Given the description of an element on the screen output the (x, y) to click on. 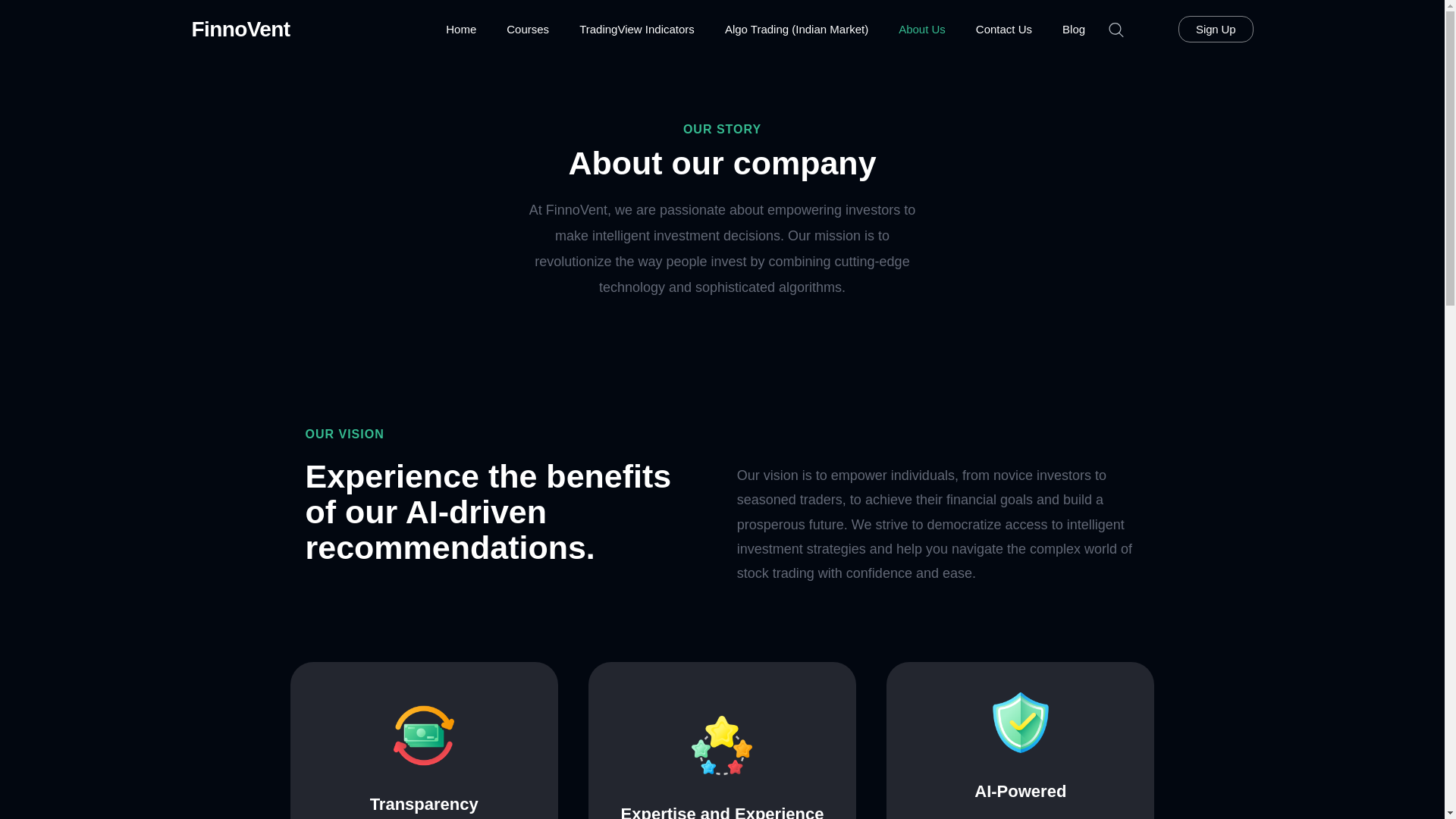
Blog (1073, 28)
Courses (528, 28)
Search (16, 16)
About Us (921, 28)
Home (461, 28)
Sign Up (1214, 29)
Contact Us (1003, 28)
TradingView Indicators (637, 28)
FinnoVent (239, 29)
